Given the description of an element on the screen output the (x, y) to click on. 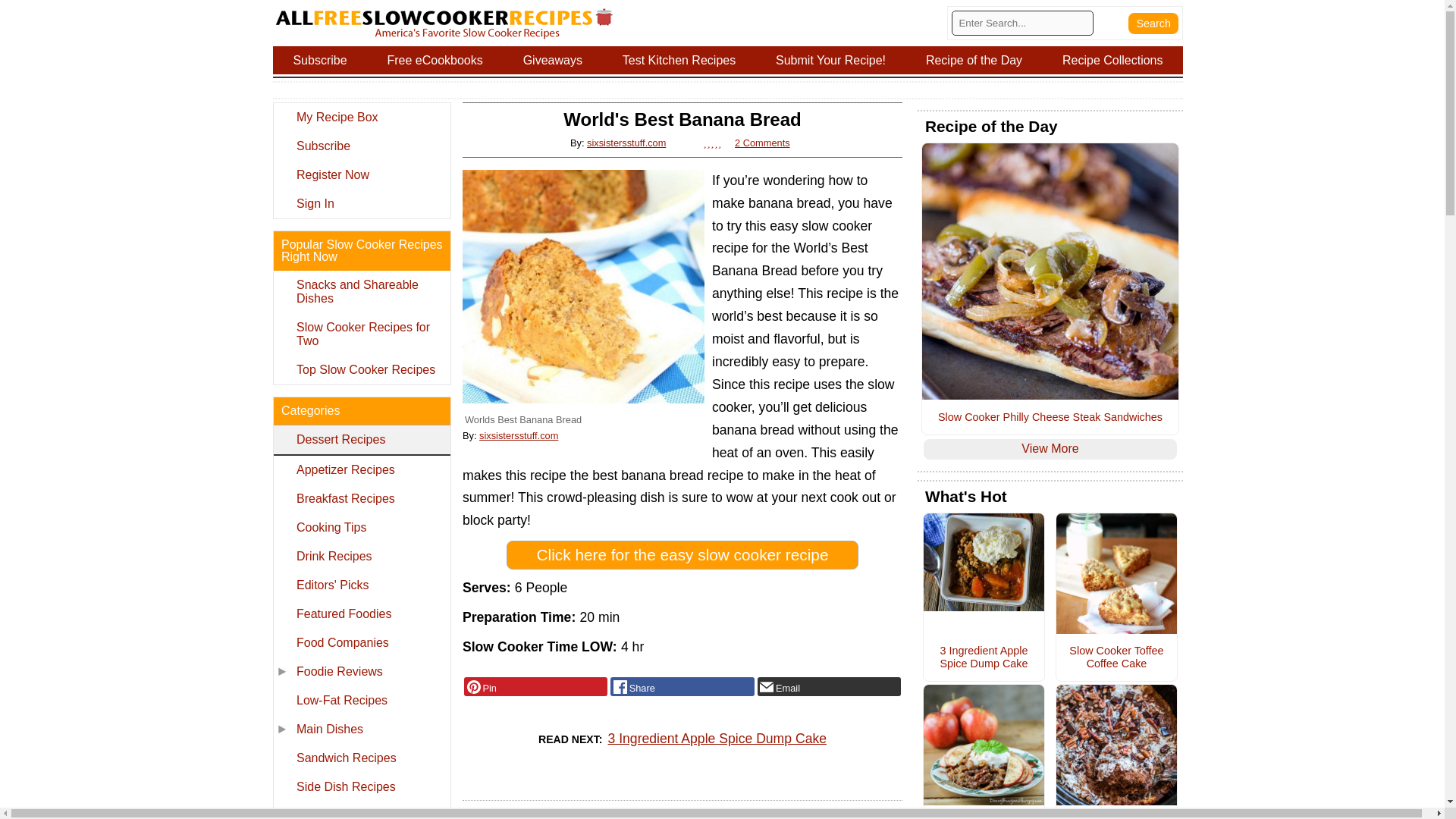
Subscribe (361, 145)
Search (1152, 22)
Giveaways (552, 59)
Facebook (682, 686)
Search (1152, 22)
Sign In (361, 203)
Email (829, 686)
My Recipe Box (361, 117)
Subscribe (319, 59)
Test Kitchen Recipes (679, 59)
